Given the description of an element on the screen output the (x, y) to click on. 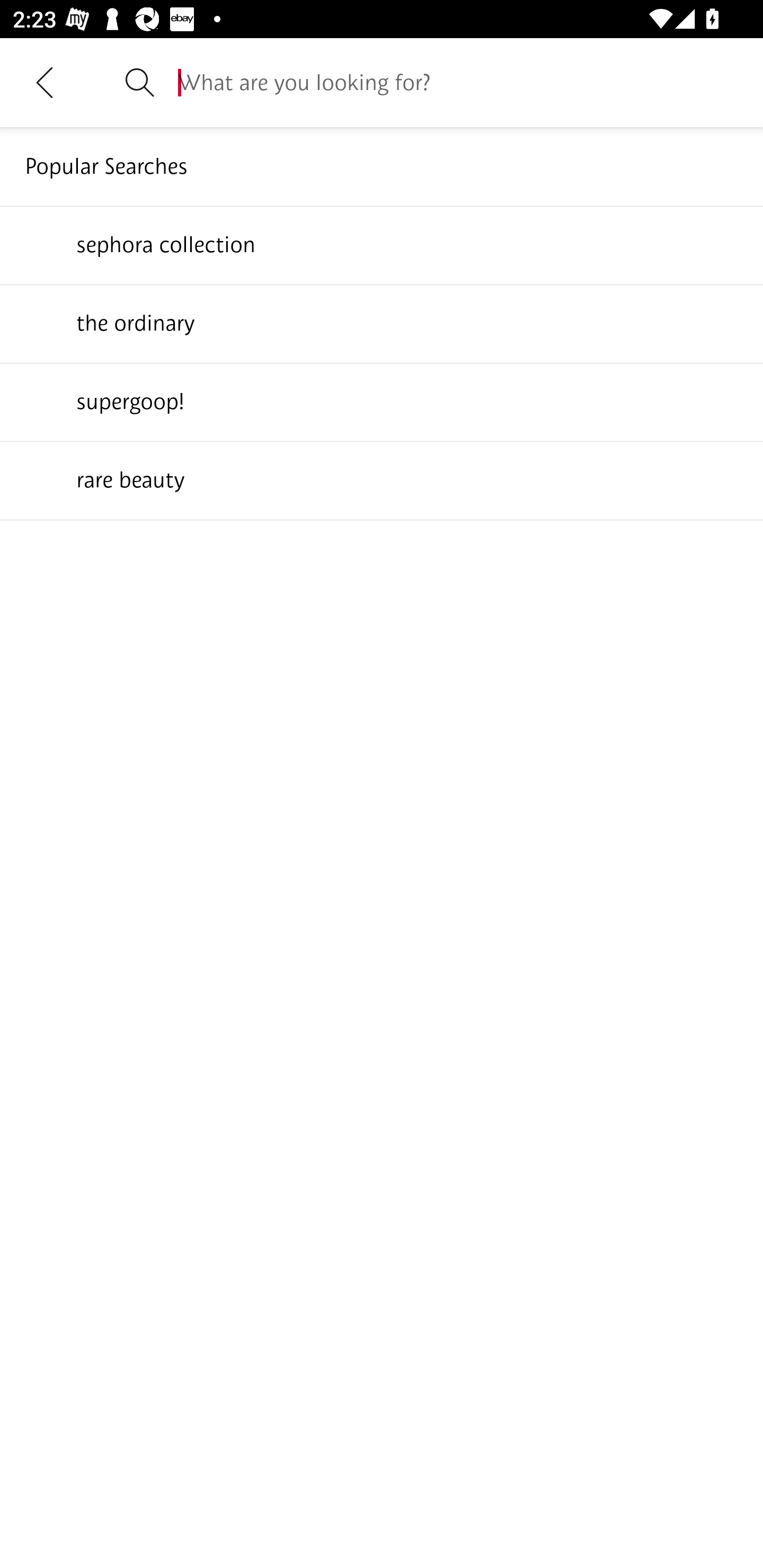
Navigate up (44, 82)
What are you looking for? (457, 82)
sephora collection (381, 244)
the ordinary (381, 322)
supergoop! (381, 401)
rare beauty (381, 479)
